Given the description of an element on the screen output the (x, y) to click on. 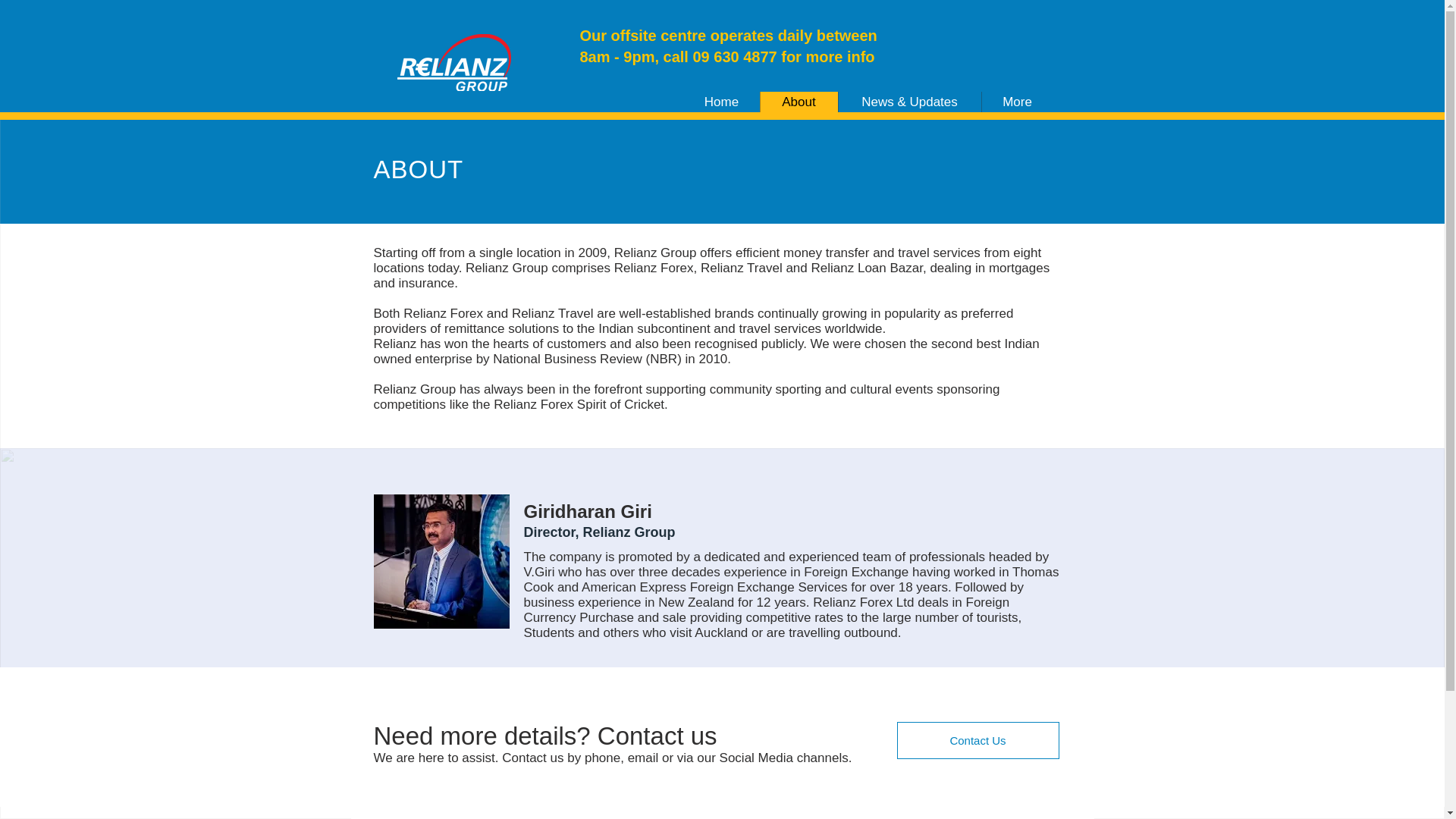
Contact Us (977, 740)
About (799, 101)
Home (722, 101)
